Given the description of an element on the screen output the (x, y) to click on. 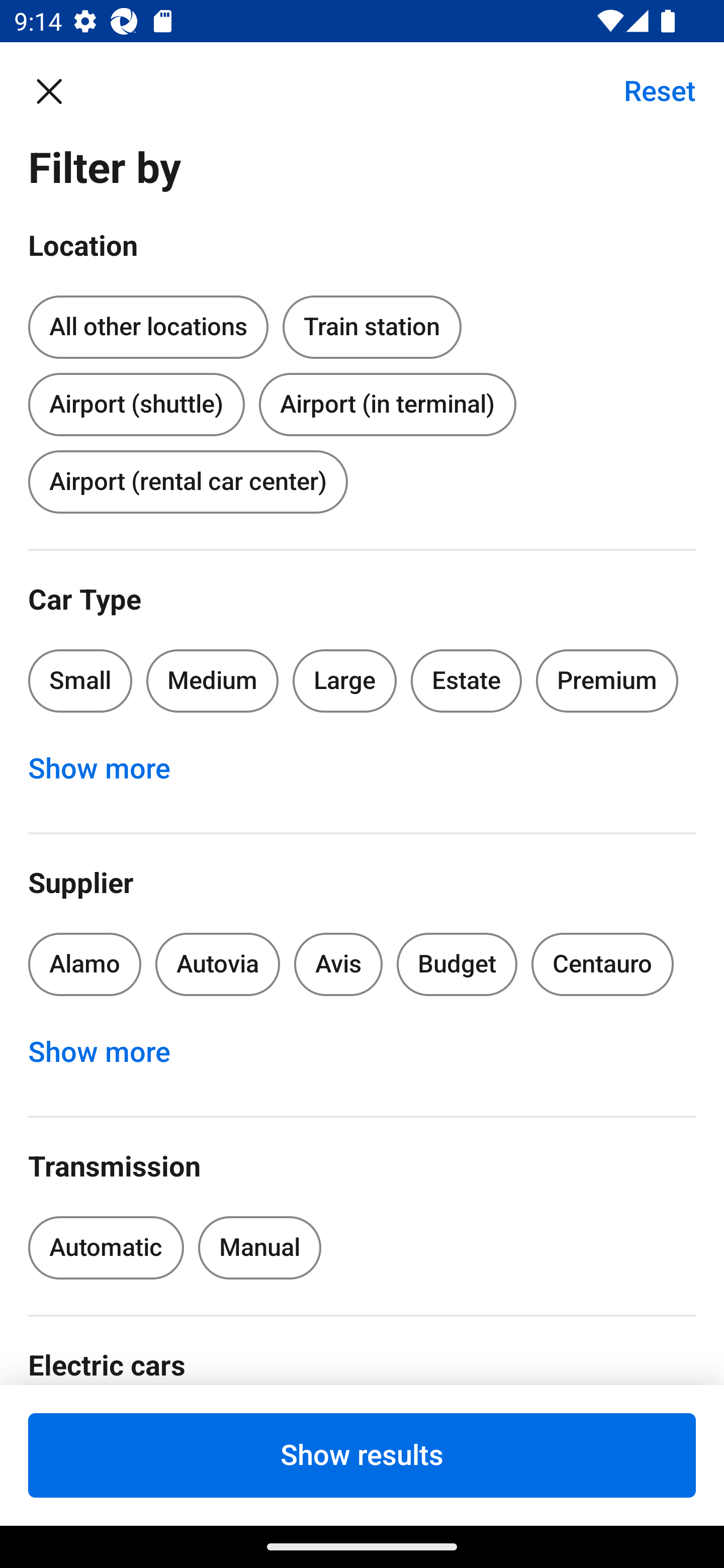
Close (59, 90)
Reset (649, 90)
All other locations (148, 327)
Train station (371, 323)
Airport (shuttle) (136, 400)
Airport (in terminal) (387, 404)
Airport (rental car center) (187, 481)
Small (80, 680)
Medium (212, 680)
Large (344, 680)
Estate (466, 680)
Premium (606, 680)
Show more (109, 767)
Alamo (84, 963)
Autovia (217, 963)
Avis (338, 963)
Budget (456, 963)
Centauro (602, 963)
Show more (109, 1051)
Automatic (105, 1247)
Manual (259, 1247)
Show results (361, 1454)
